Given the description of an element on the screen output the (x, y) to click on. 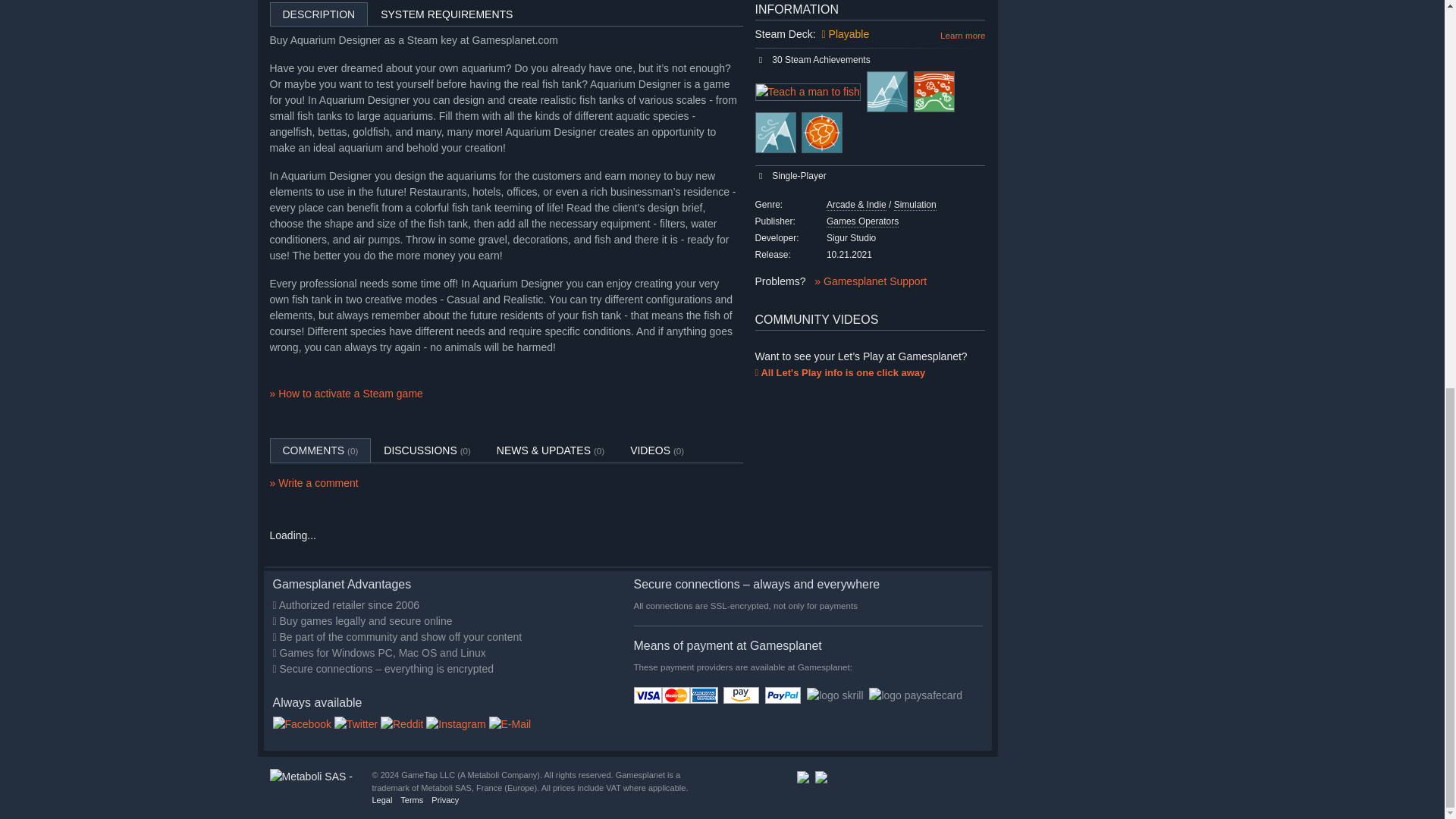
Achievement: Fresh as a mountain stream (775, 132)
Achievement: Come hell or high water! (934, 91)
translation missing: en-US.community.tabs.videos (649, 450)
Achievement: Cleaner than a cleaner fish (822, 132)
Achievement: Tip of the iceberg (886, 91)
Achievement: Teach a man to fish (807, 91)
